Given the description of an element on the screen output the (x, y) to click on. 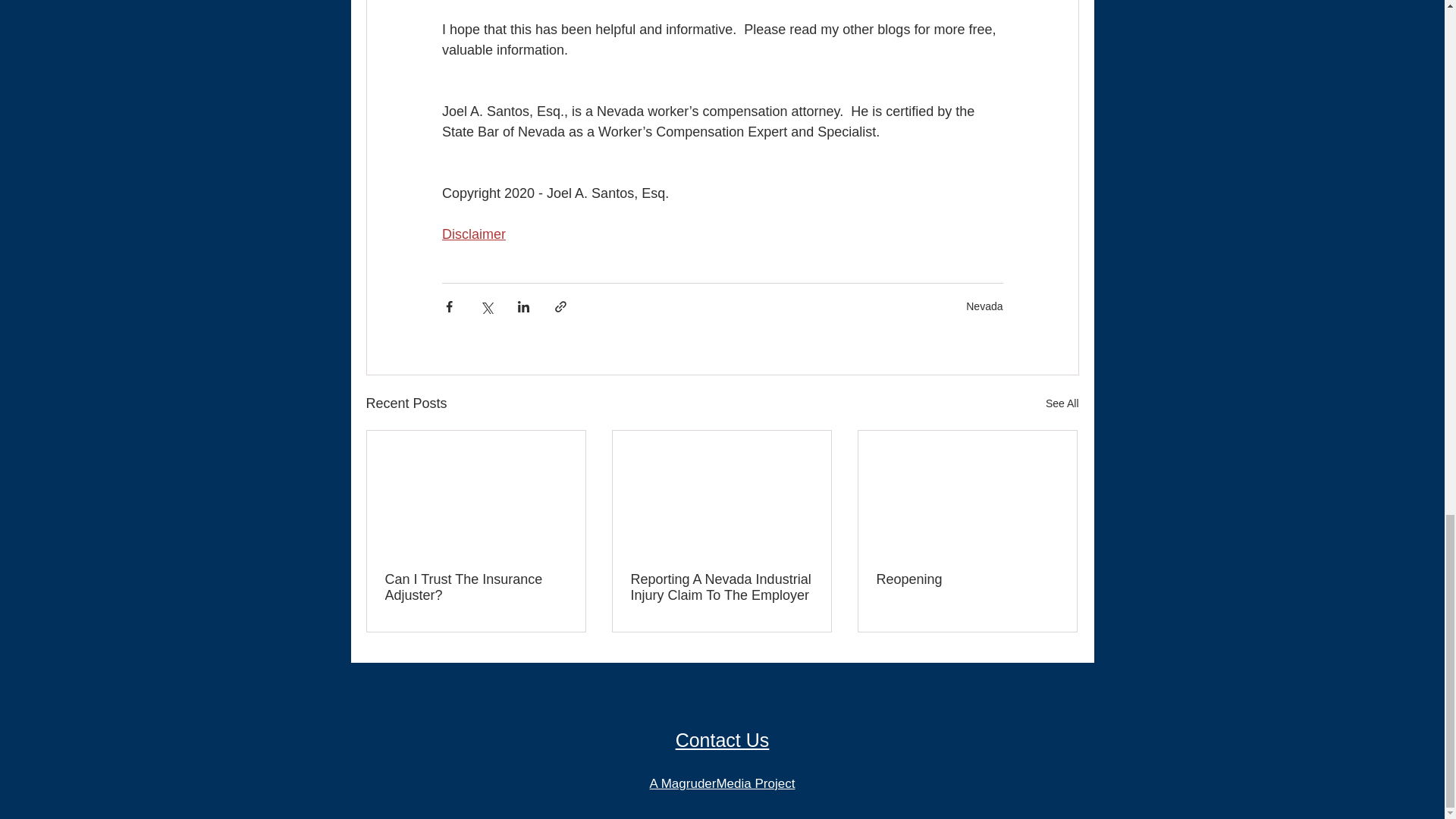
Reopening (967, 579)
Disclaimer (473, 233)
Contact Us (722, 740)
Can I Trust The Insurance Adjuster? (476, 587)
See All (1061, 403)
A MagruderMedia Project (721, 783)
Nevada (984, 305)
Reporting A Nevada Industrial Injury Claim To The Employer (721, 587)
